Given the description of an element on the screen output the (x, y) to click on. 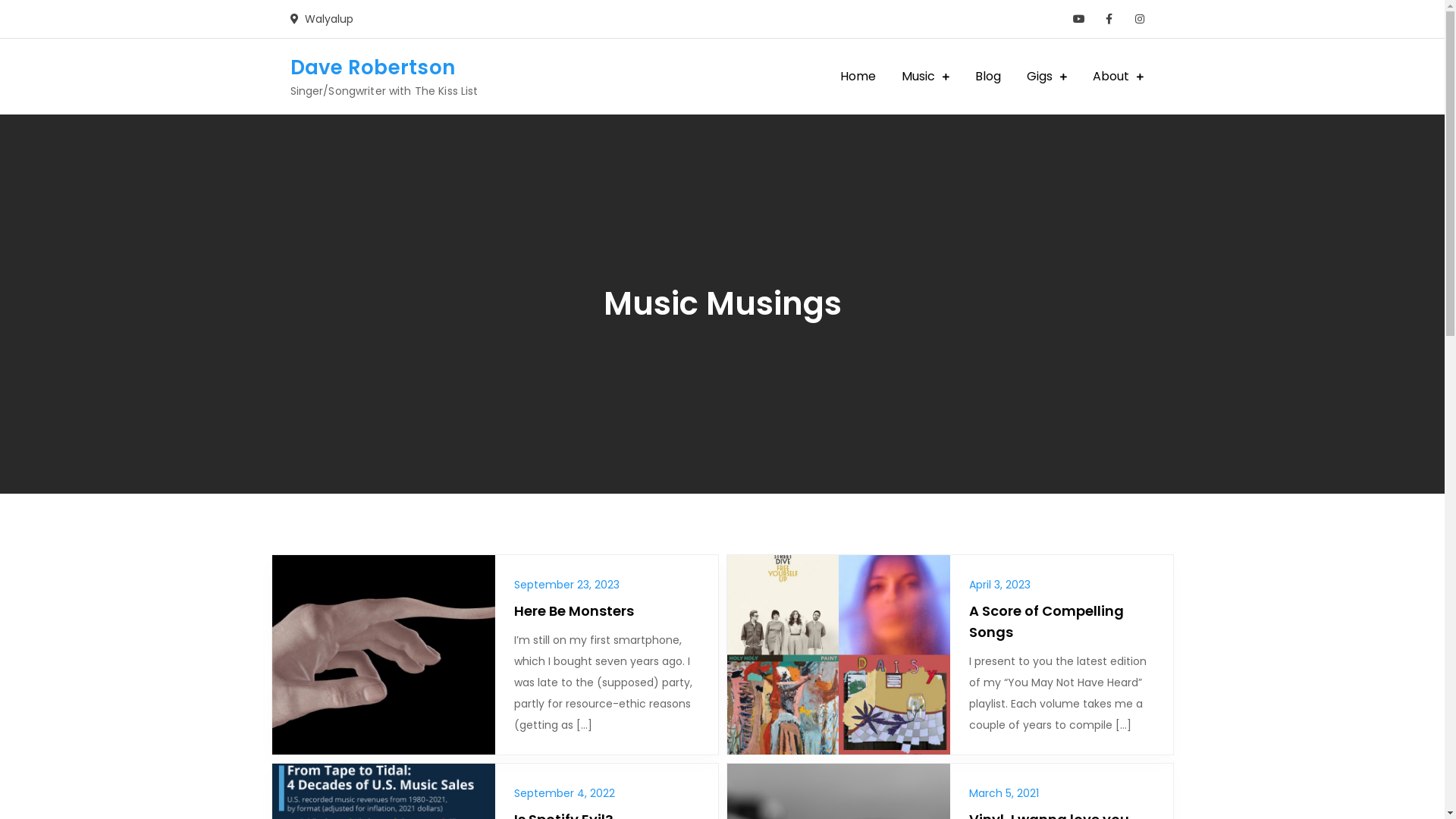
Here Be Monsters Element type: text (573, 610)
A Score of Compelling Songs Element type: text (1046, 621)
Dave Robertson Element type: text (372, 66)
Home Element type: text (857, 76)
March 5, 2021 Element type: text (1003, 792)
Music Element type: text (925, 76)
September 23, 2023 Element type: text (566, 584)
Gigs Element type: text (1045, 76)
April 3, 2023 Element type: text (999, 584)
September 4, 2022 Element type: text (564, 792)
Blog Element type: text (987, 76)
About Element type: text (1117, 76)
